Given the description of an element on the screen output the (x, y) to click on. 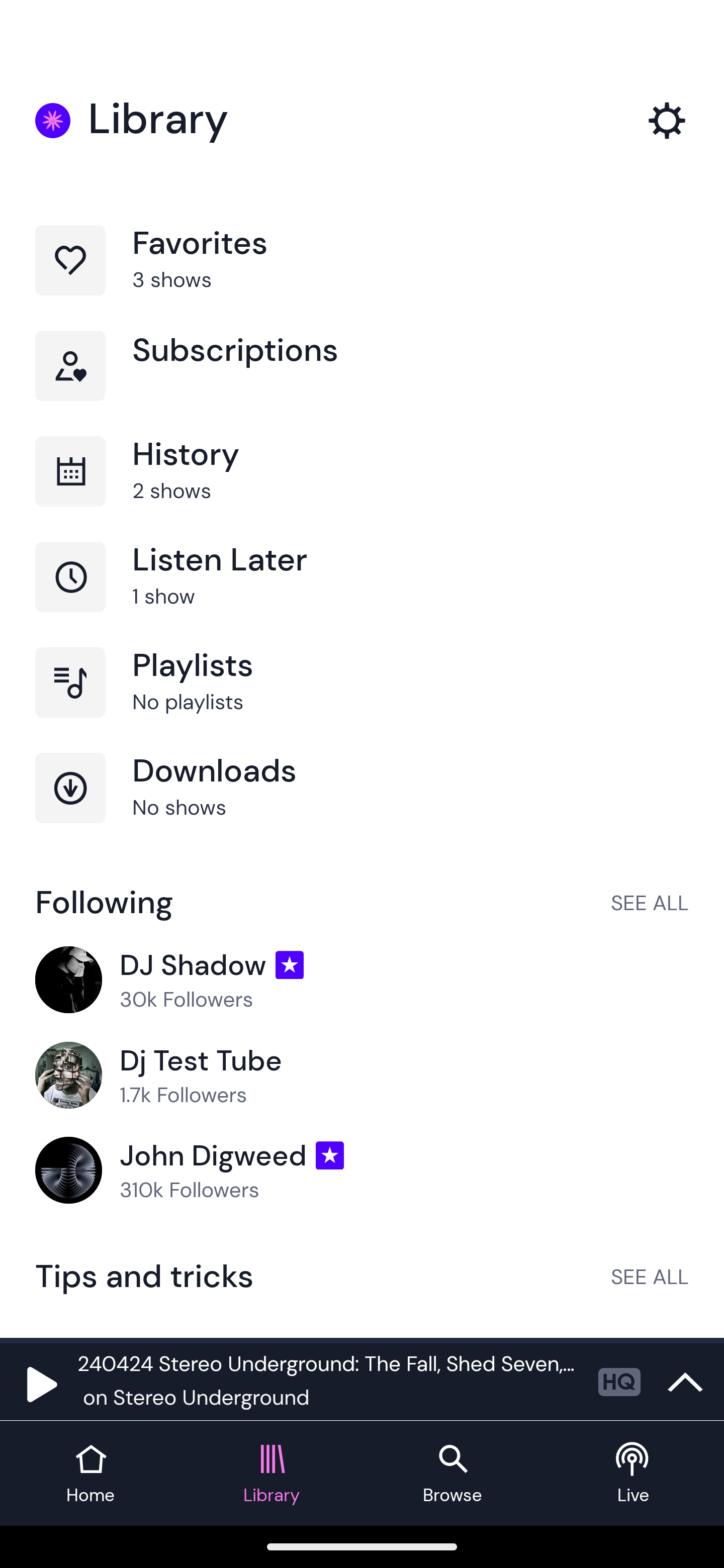
Favorites, 3 shows Favorites 3 shows (361, 277)
Subscriptions (361, 382)
History, 2 shows History 2 shows (361, 488)
Listen Later, 1 show Listen Later 1 show (361, 594)
Playlists, No playlists Playlists No playlists (361, 699)
Downloads, No shows Downloads No shows (361, 804)
SEE ALL (649, 902)
DJ Shadow, 30k Followers DJ Shadow 30k Followers (361, 980)
SEE ALL (649, 1276)
Home tab Home (90, 1473)
Library tab Library (271, 1473)
Browse tab Browse (452, 1473)
Live tab Live (633, 1473)
